Given the description of an element on the screen output the (x, y) to click on. 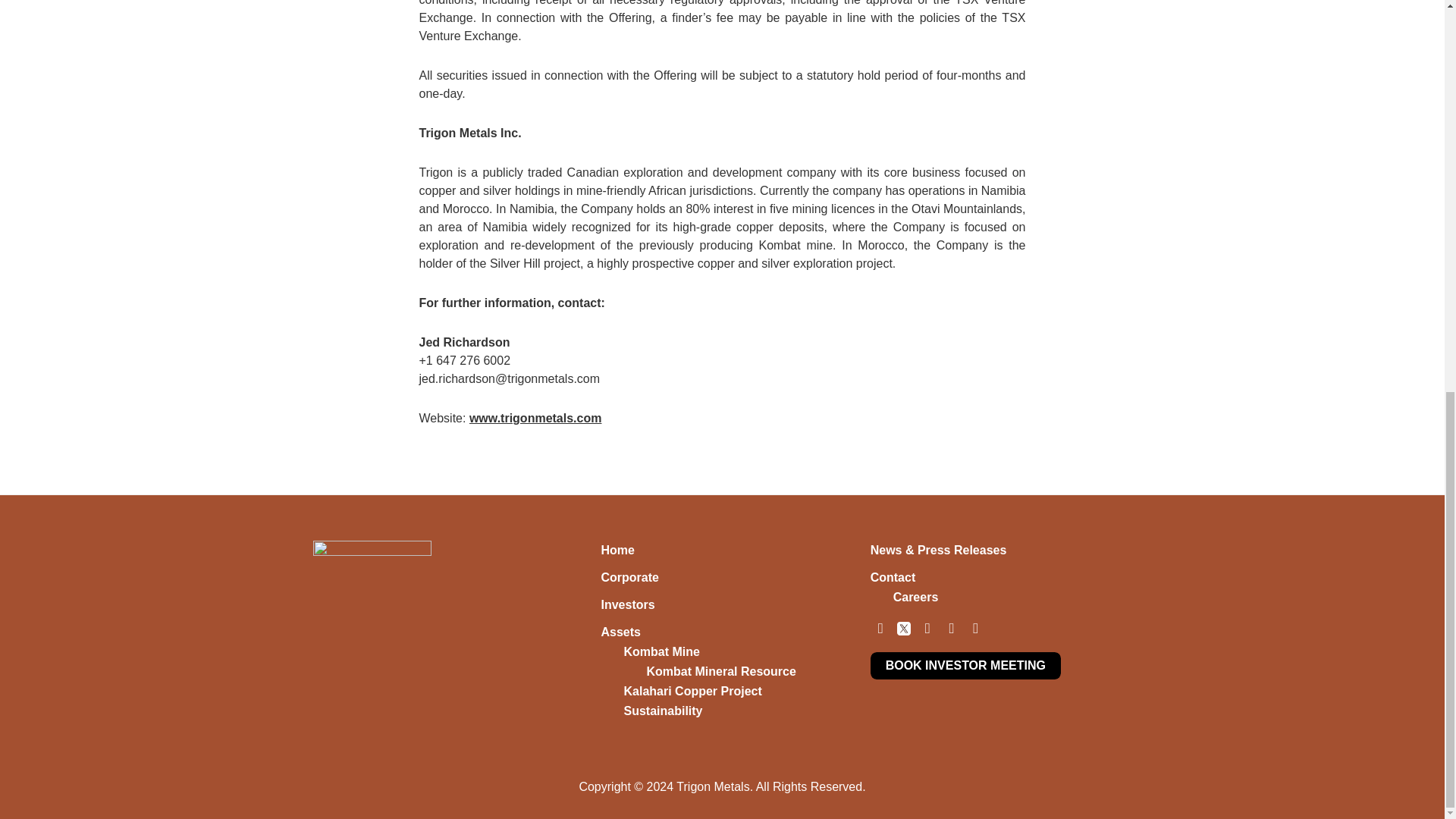
Kombat Mineral Resource (720, 671)
Kombat Mine (660, 651)
Careers (916, 596)
Kalahari Copper Project (692, 690)
facebook (880, 626)
Assets (619, 631)
Home (616, 549)
Instagram (927, 626)
Sustainability (662, 710)
Contact (892, 576)
